Given the description of an element on the screen output the (x, y) to click on. 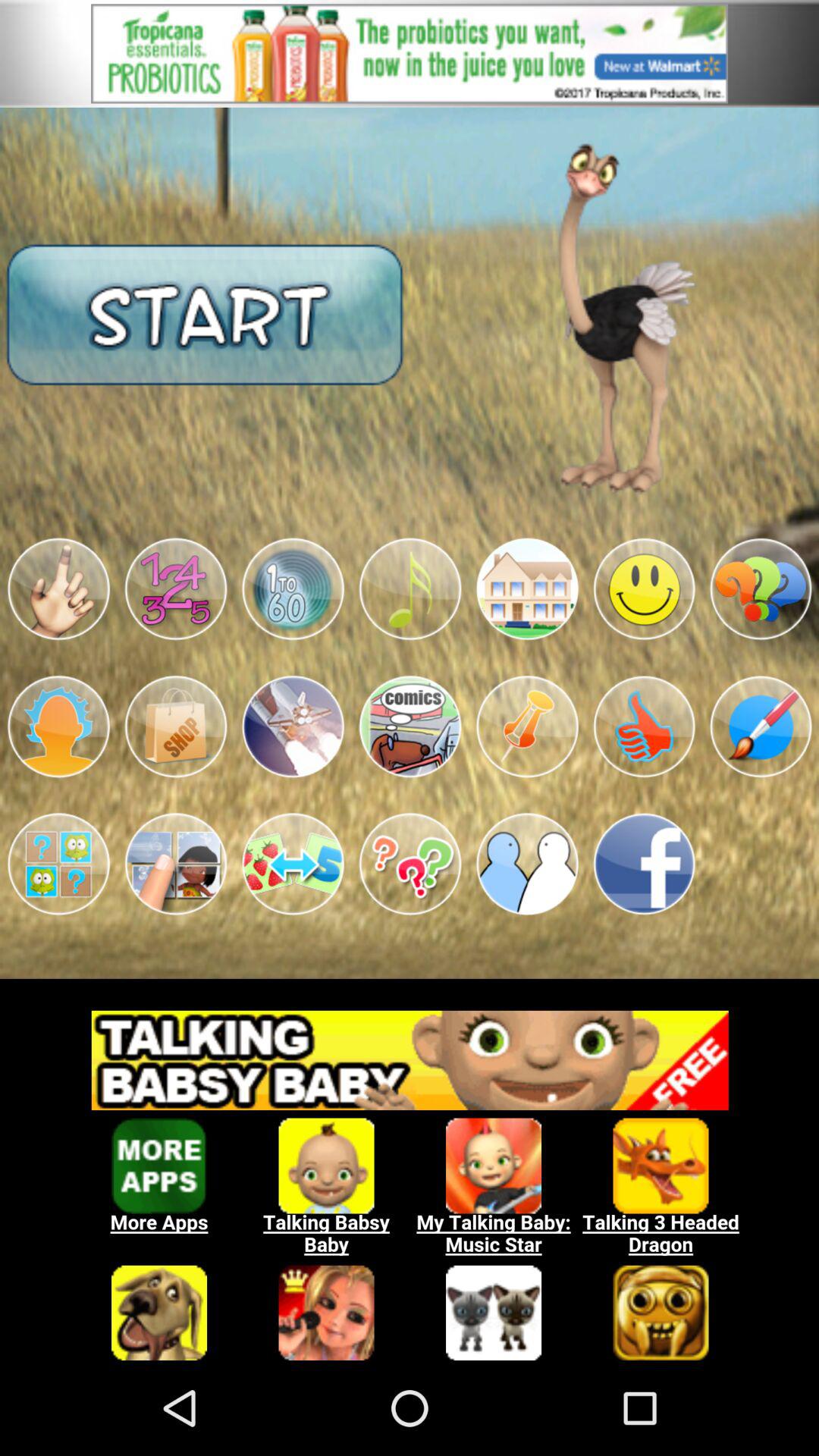
click to the app (526, 726)
